Given the description of an element on the screen output the (x, y) to click on. 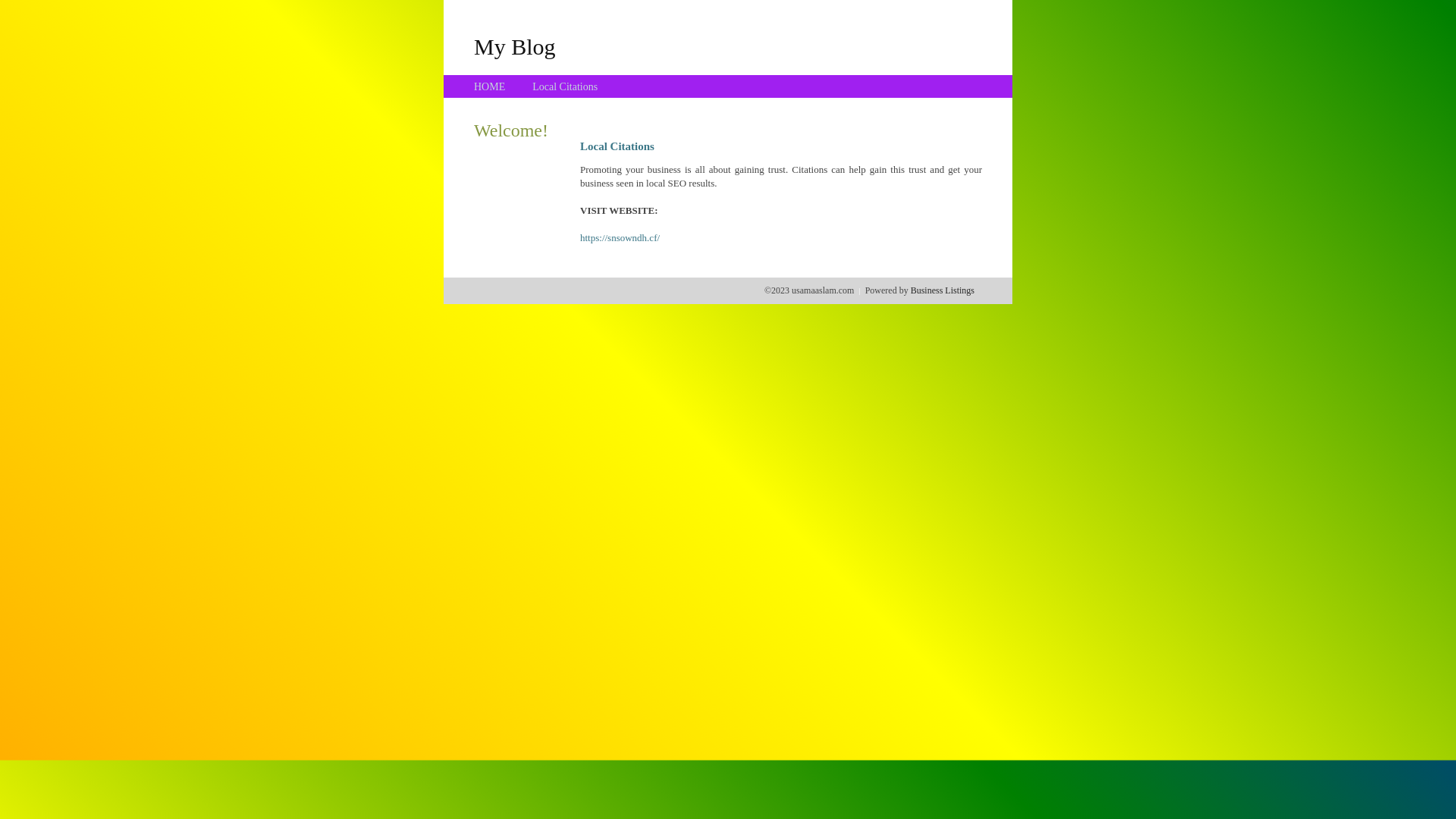
My Blog Element type: text (514, 46)
Business Listings Element type: text (942, 290)
Local Citations Element type: text (564, 86)
HOME Element type: text (489, 86)
https://snsowndh.cf/ Element type: text (619, 237)
